Given the description of an element on the screen output the (x, y) to click on. 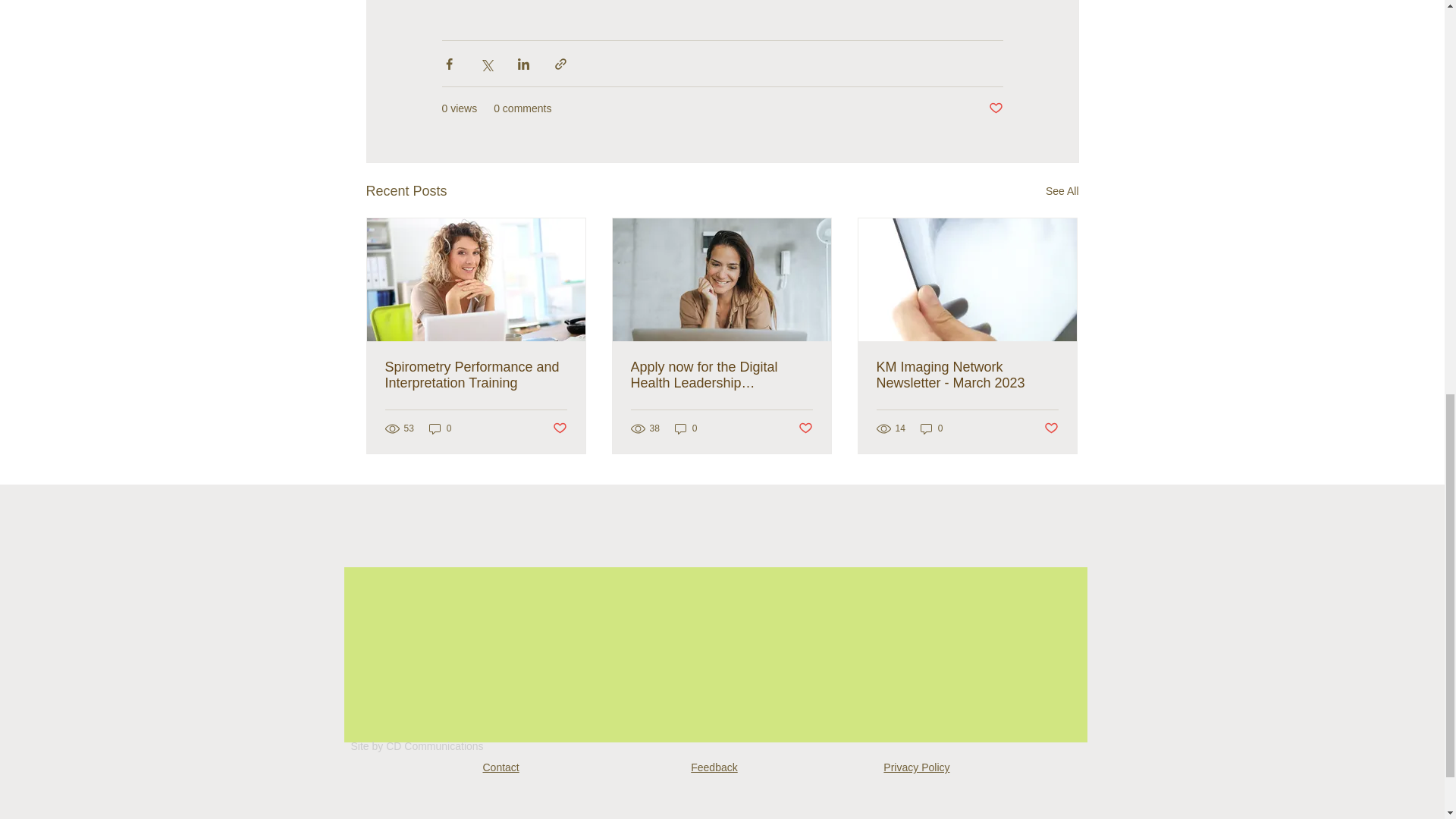
KM Imaging Network Newsletter - March 2023 (967, 375)
Spirometry Performance and Interpretation Training (476, 375)
Post not marked as liked (804, 428)
Post not marked as liked (1050, 428)
0 (931, 428)
Post not marked as liked (558, 428)
0 (685, 428)
Post not marked as liked (995, 108)
0 (440, 428)
Apply now for the Digital Health Leadership Programme (721, 375)
See All (1061, 191)
